Given the description of an element on the screen output the (x, y) to click on. 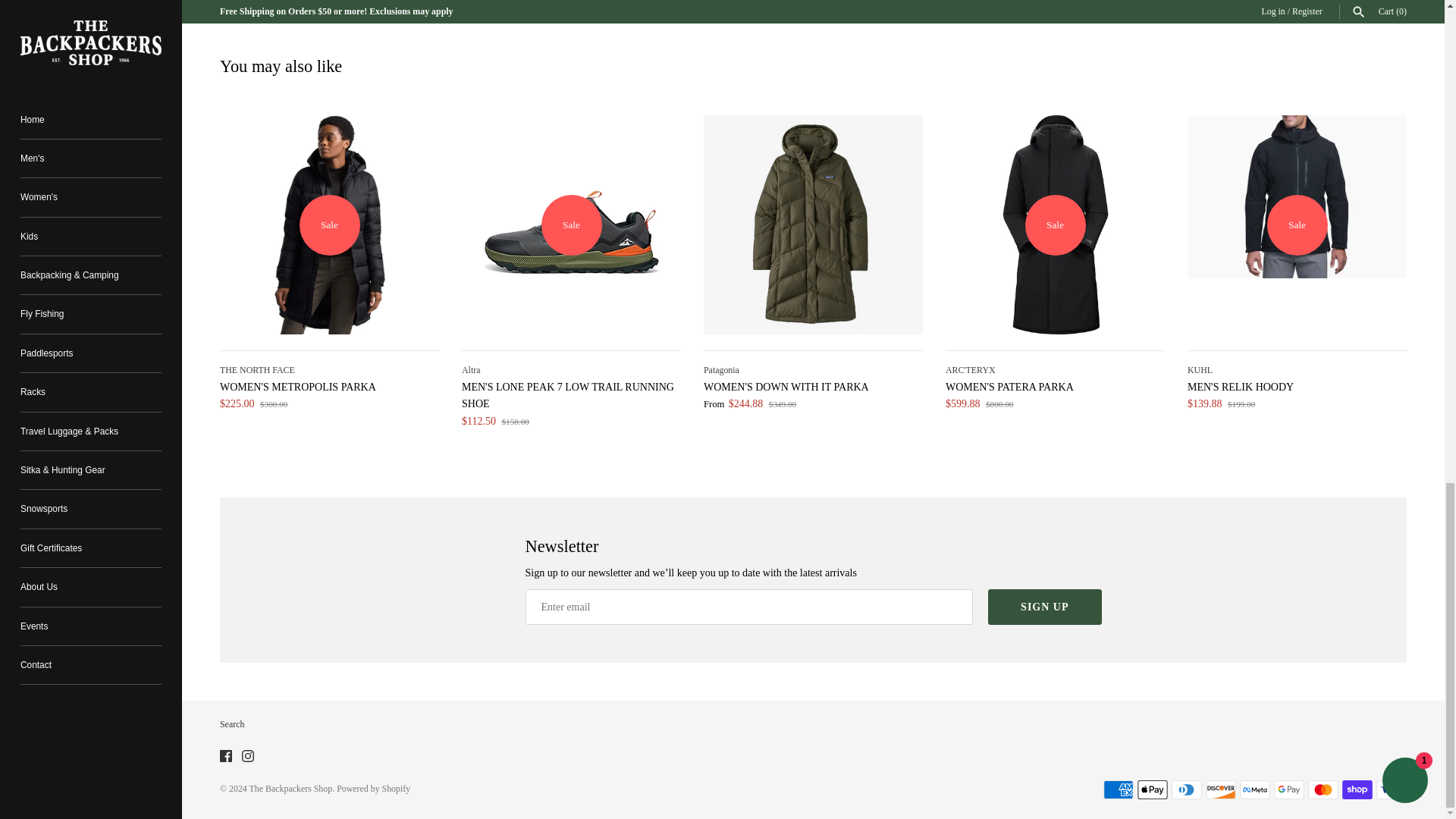
Visa (1390, 789)
Diners Club (1187, 789)
MEN'S RELIK HOODY (1297, 224)
Shop Pay (1357, 789)
Instagram (247, 756)
WOMEN'S DOWN WITH IT PARKA (813, 224)
Discover (1220, 789)
American Express (1118, 789)
Facebook (225, 756)
Google Pay (1289, 789)
WOMEN'S PATERA PARKA (1054, 224)
Apple Pay (1152, 789)
WOMEN'S METROPOLIS PARKA (329, 224)
Meta Pay (1254, 789)
Mastercard (1322, 789)
